Given the description of an element on the screen output the (x, y) to click on. 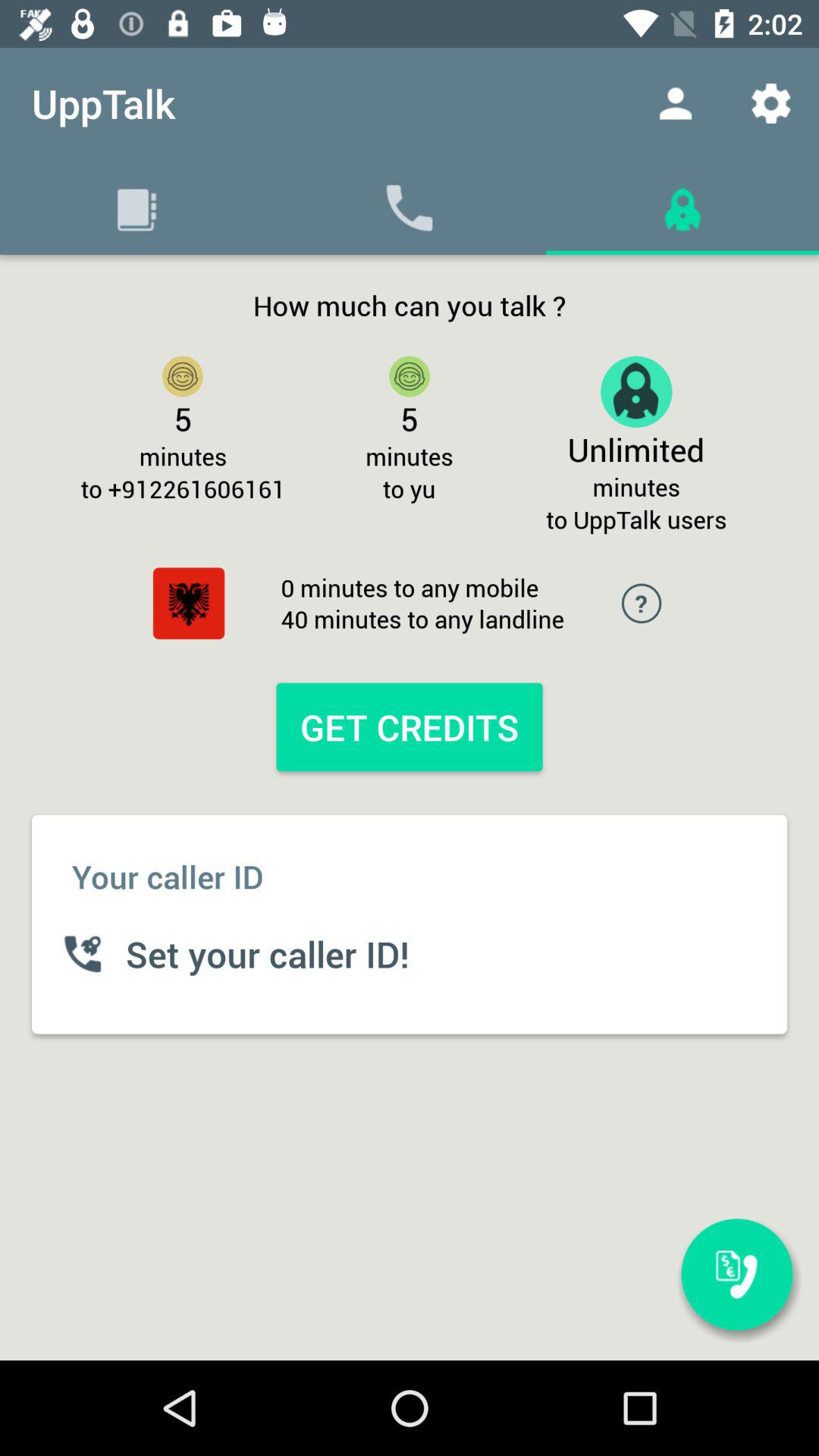
tap item above the your caller id item (409, 727)
